Given the description of an element on the screen output the (x, y) to click on. 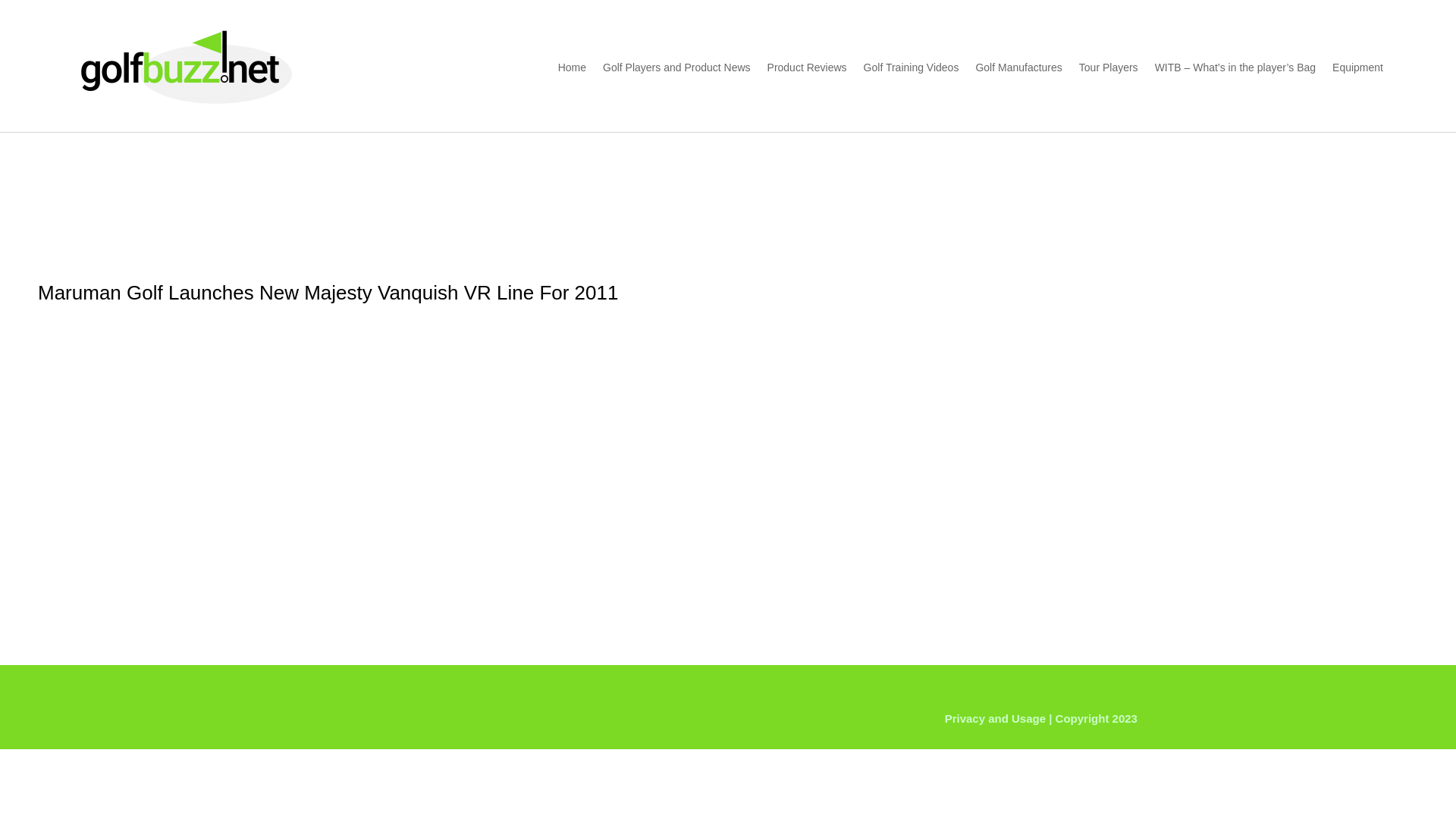
Product Reviews (807, 67)
Golf Manufactures (1018, 67)
Golf Players and Product News (676, 67)
Golf Training Videos (911, 67)
